Given the description of an element on the screen output the (x, y) to click on. 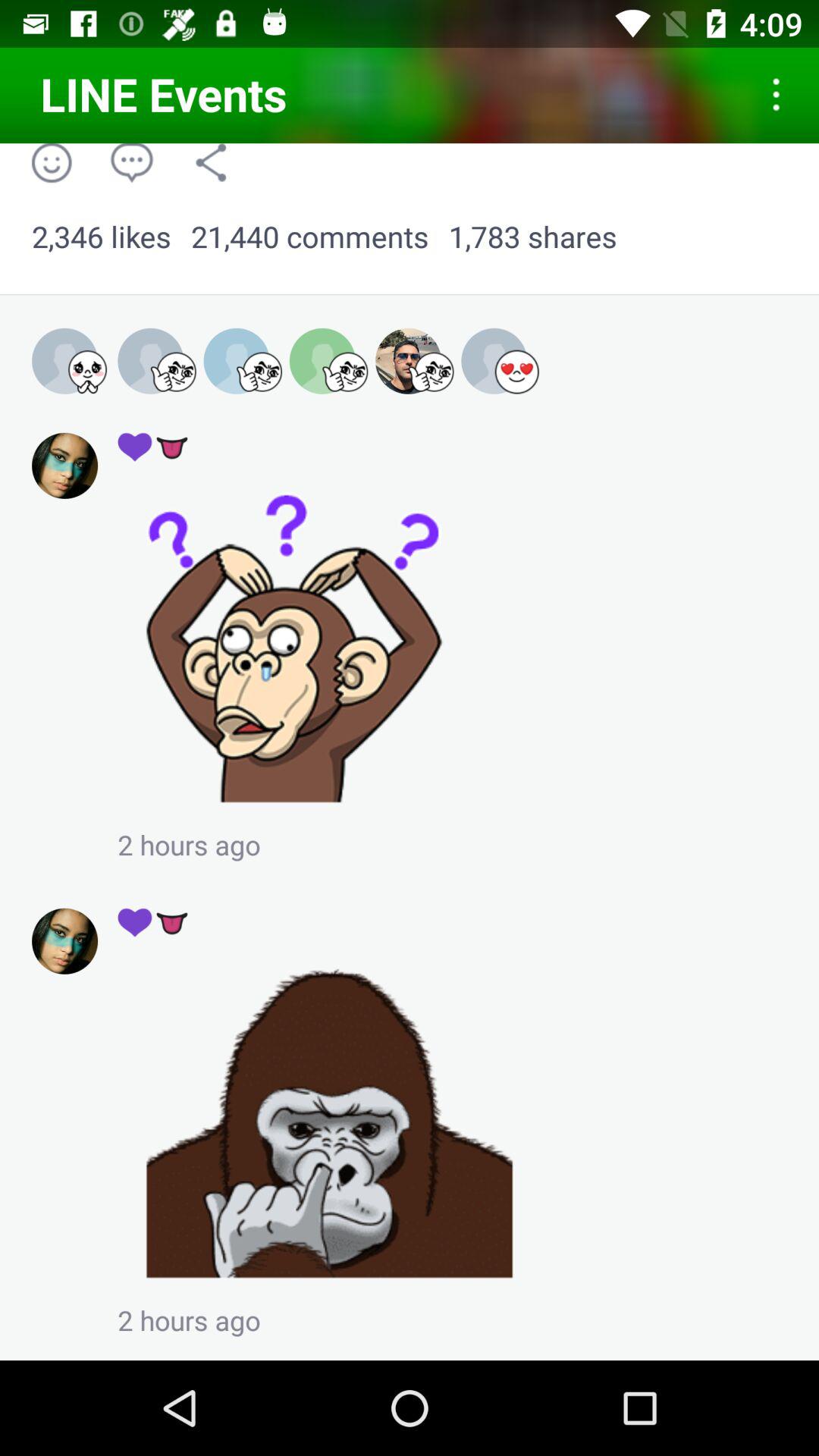
turn off the 1,783 shares icon (532, 237)
